Given the description of an element on the screen output the (x, y) to click on. 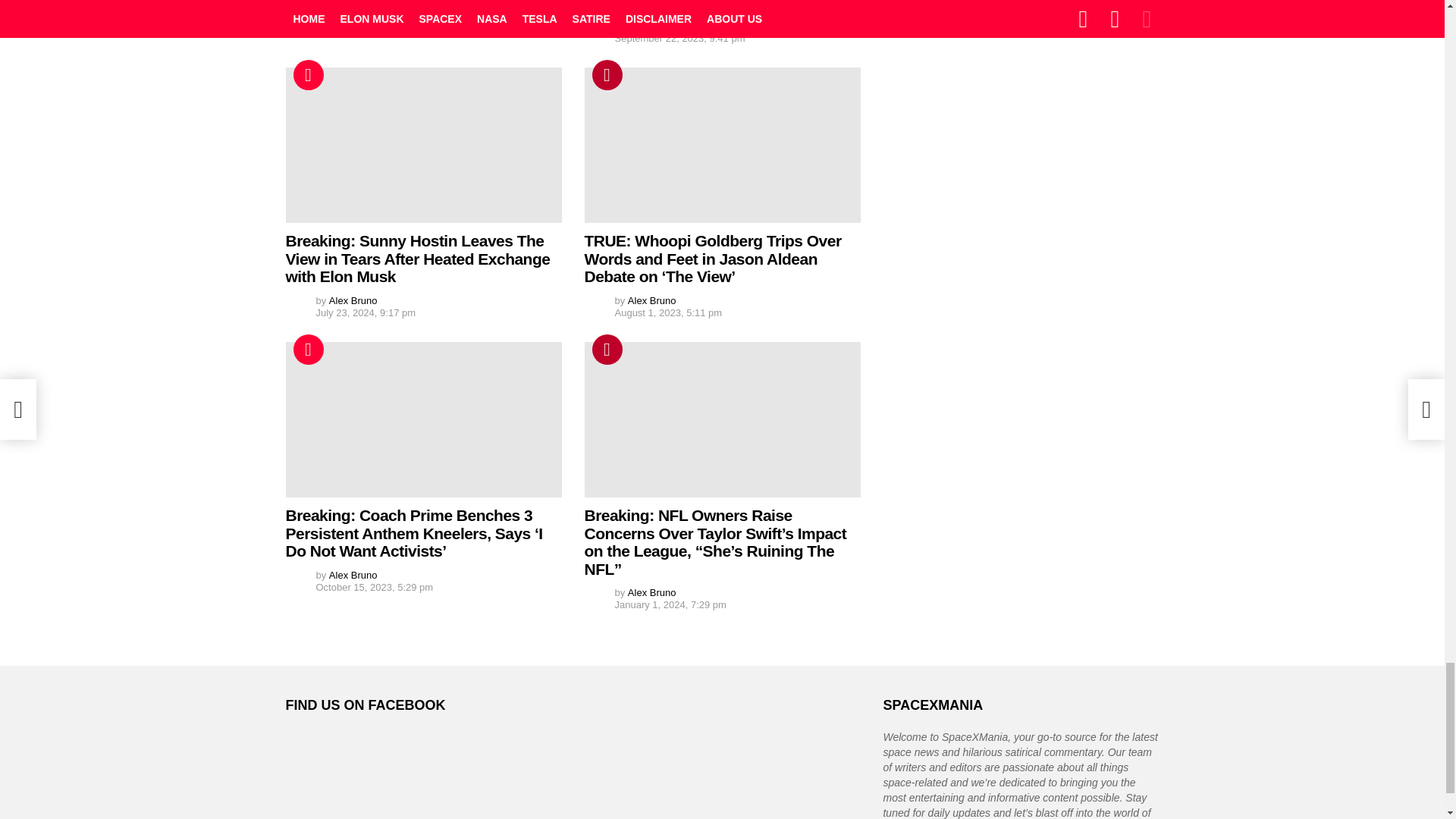
Posts by Alex Bruno (353, 300)
Hot (307, 74)
Posts by Alex Bruno (353, 7)
Posts by Alex Bruno (652, 25)
